Given the description of an element on the screen output the (x, y) to click on. 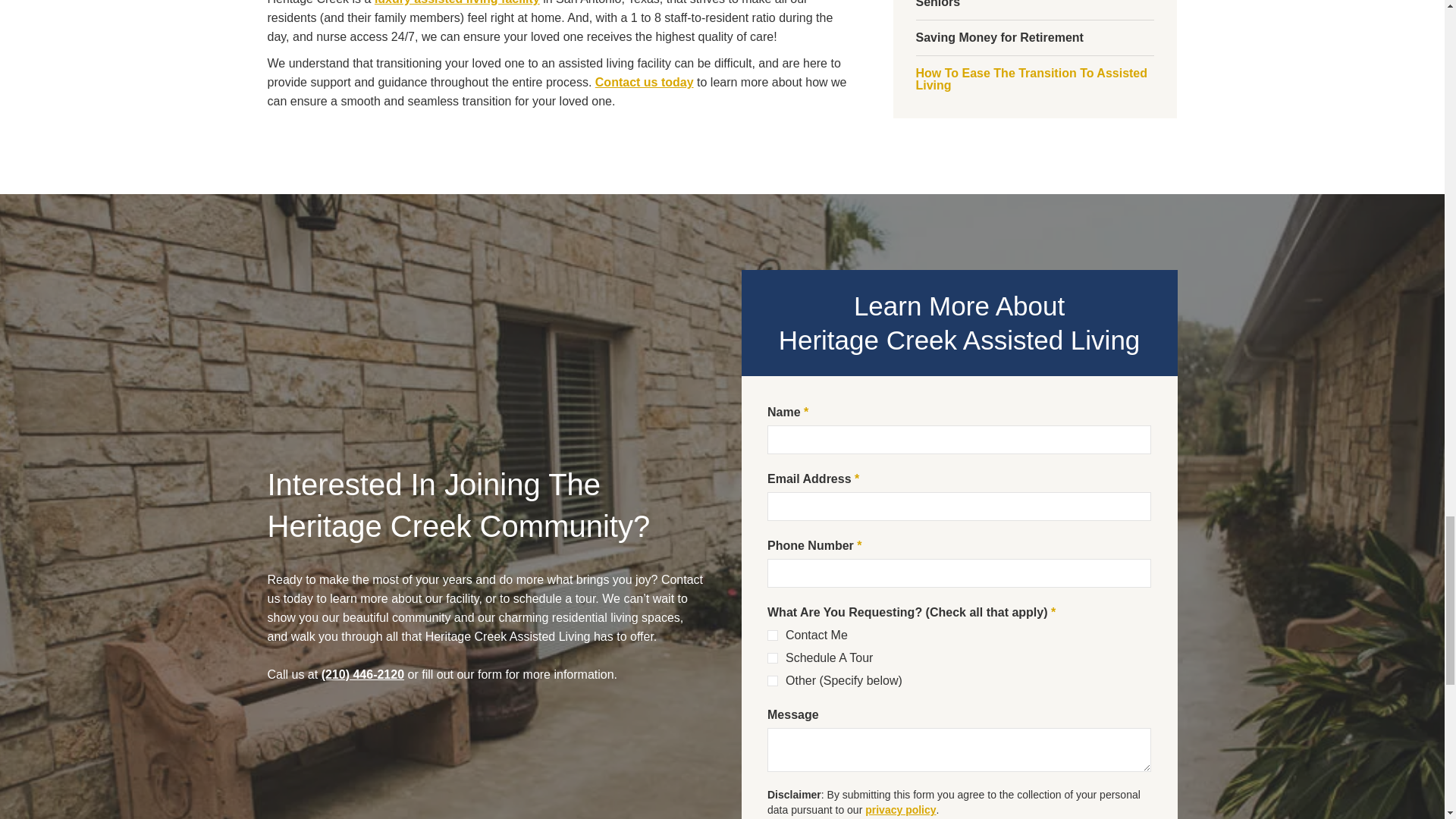
Contact us today (644, 82)
luxury assisted living facility (457, 2)
privacy policy (900, 809)
